Given the description of an element on the screen output the (x, y) to click on. 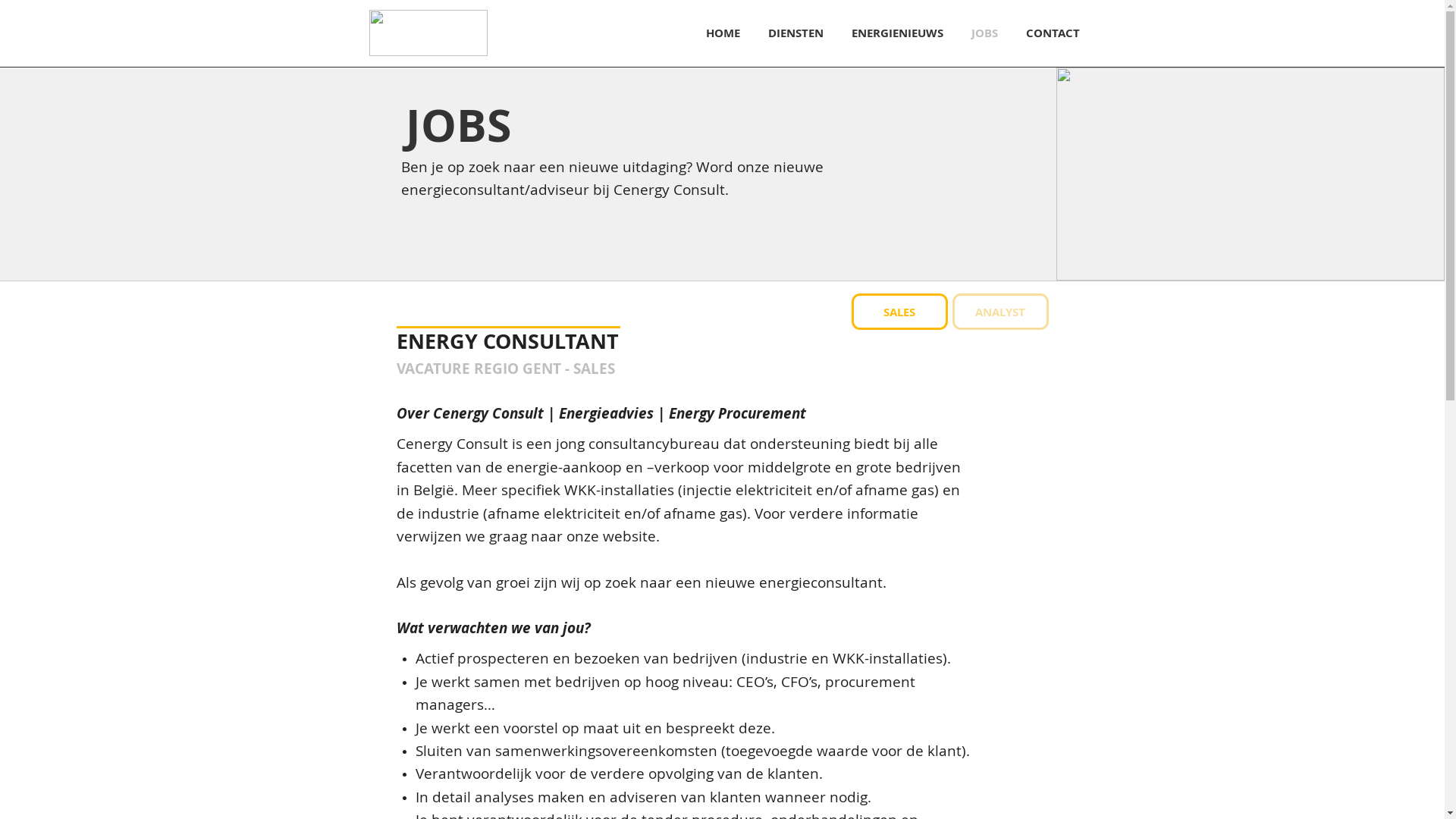
SALES Element type: text (898, 311)
ANALYST Element type: text (1000, 311)
ENERGIENIEUWS Element type: text (897, 32)
CONTACT Element type: text (1052, 32)
HOME Element type: text (722, 32)
DIENSTEN Element type: text (795, 32)
JOBS Element type: text (984, 32)
